Given the description of an element on the screen output the (x, y) to click on. 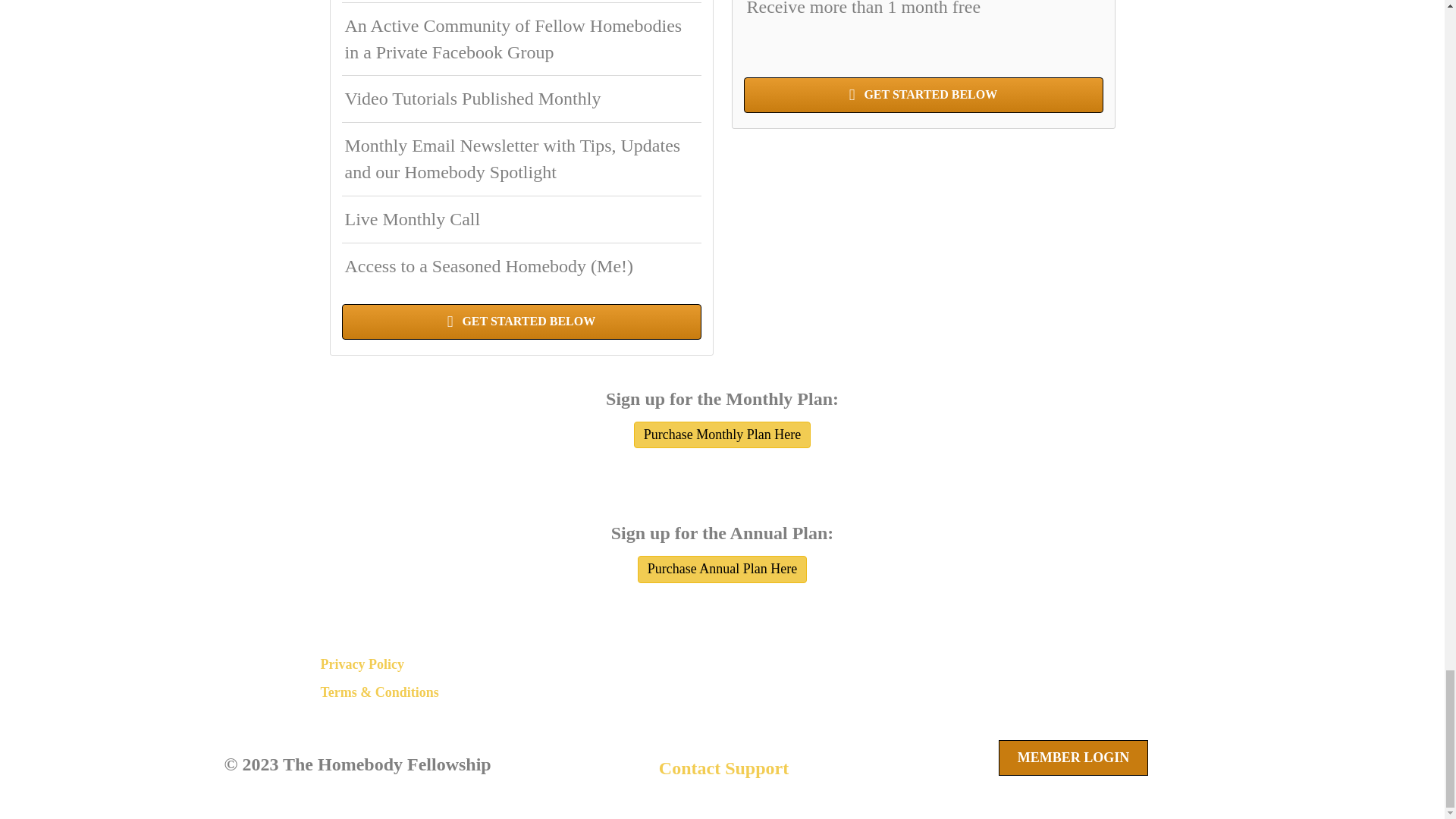
Purchase Annual Plan Here (721, 569)
Contact Support  (726, 768)
MEMBER LOGIN (1073, 758)
Purchase Monthly Plan Here (721, 434)
Privacy Policy (361, 663)
GET STARTED BELOW (520, 321)
Purchase Annual Plan Here (721, 569)
GET STARTED BELOW (922, 94)
Purchase Monthly Plan Here (721, 434)
